Given the description of an element on the screen output the (x, y) to click on. 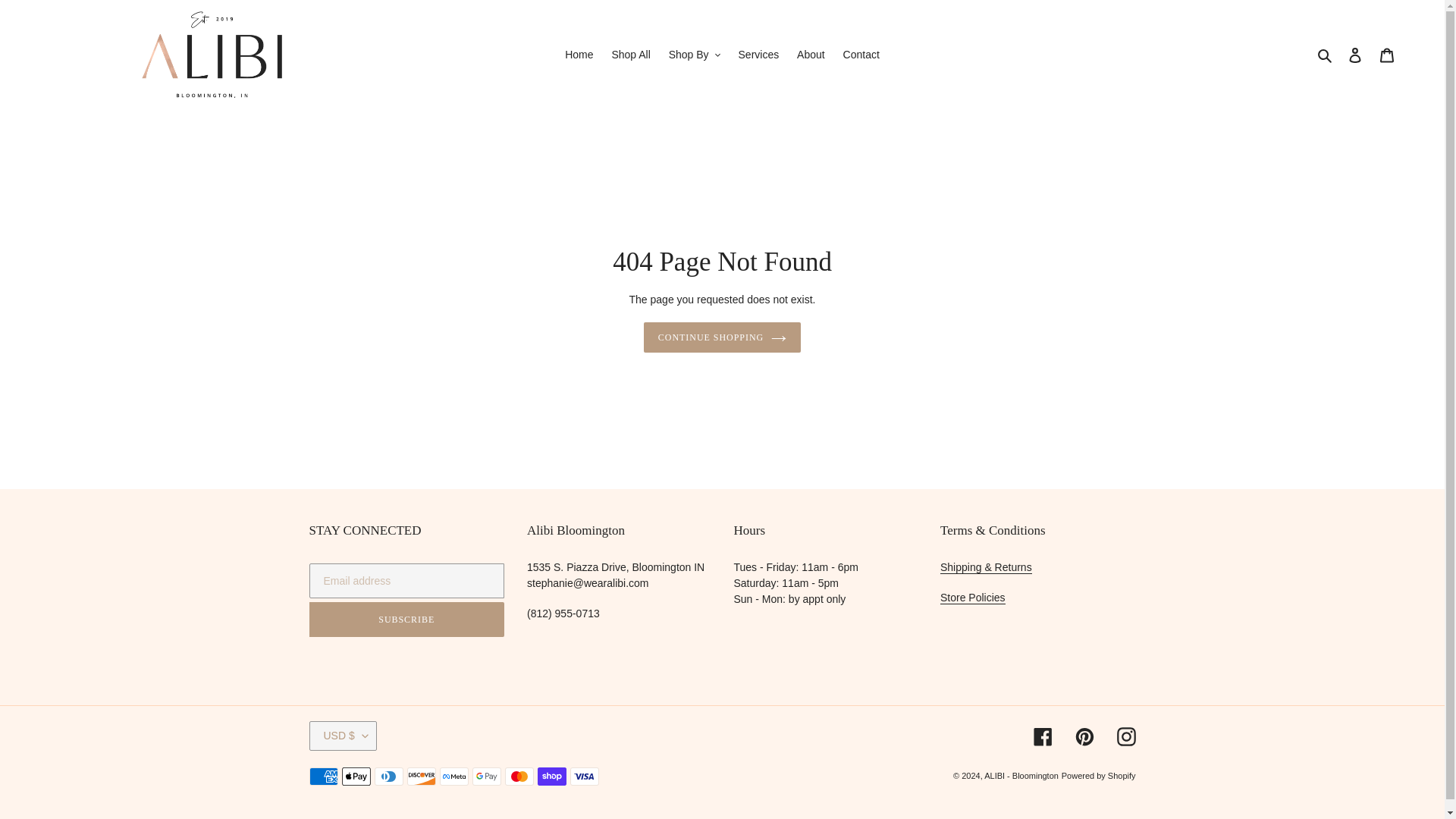
Shop All (631, 54)
Refund Policy (986, 567)
Home (578, 54)
Shop By (694, 54)
